Given the description of an element on the screen output the (x, y) to click on. 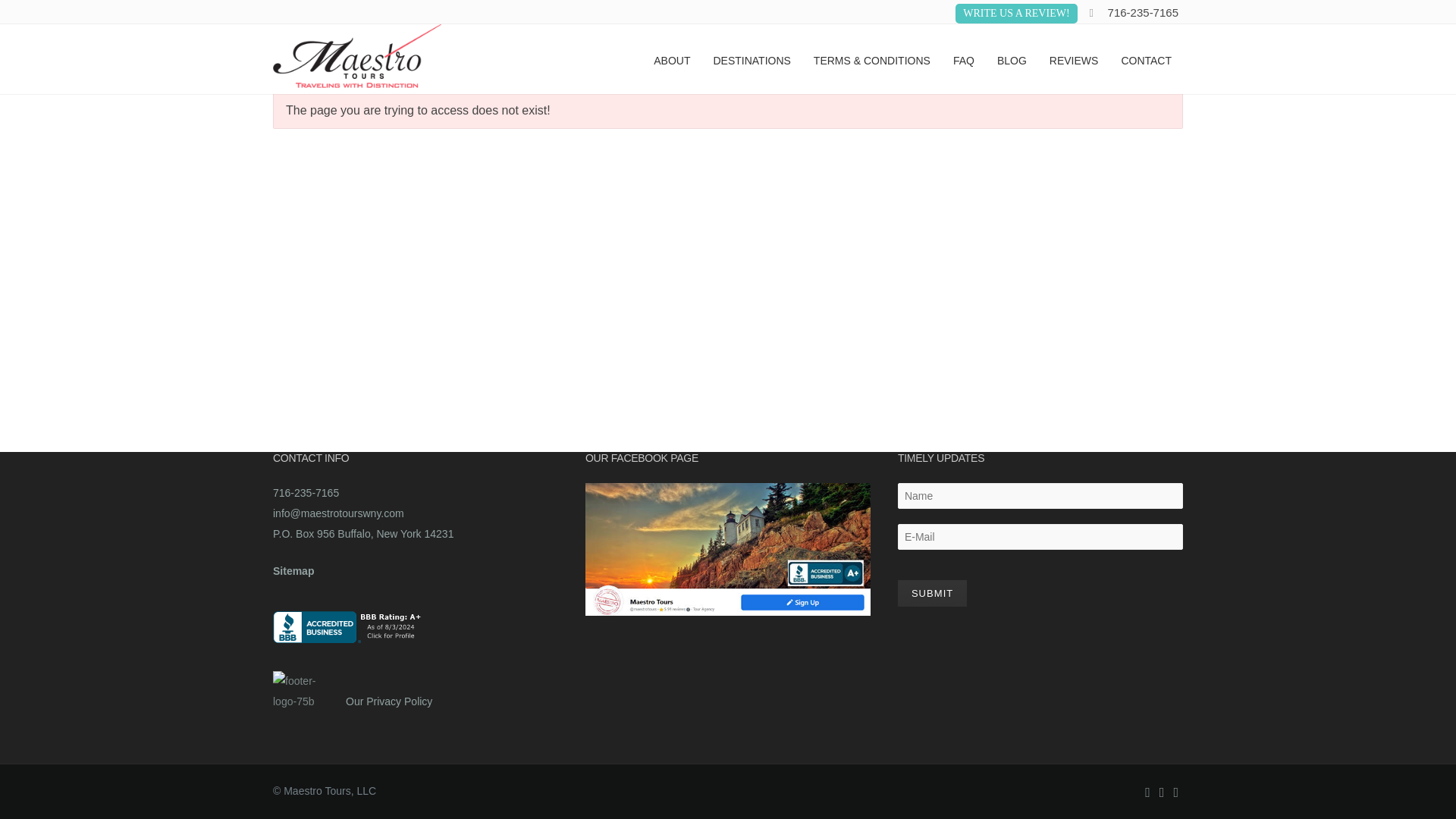
716-235-7165 (1142, 11)
REVIEWS (1073, 59)
CONTACT (1145, 59)
WRITE US A REVIEW! (1016, 13)
DESTINATIONS (751, 59)
